Given the description of an element on the screen output the (x, y) to click on. 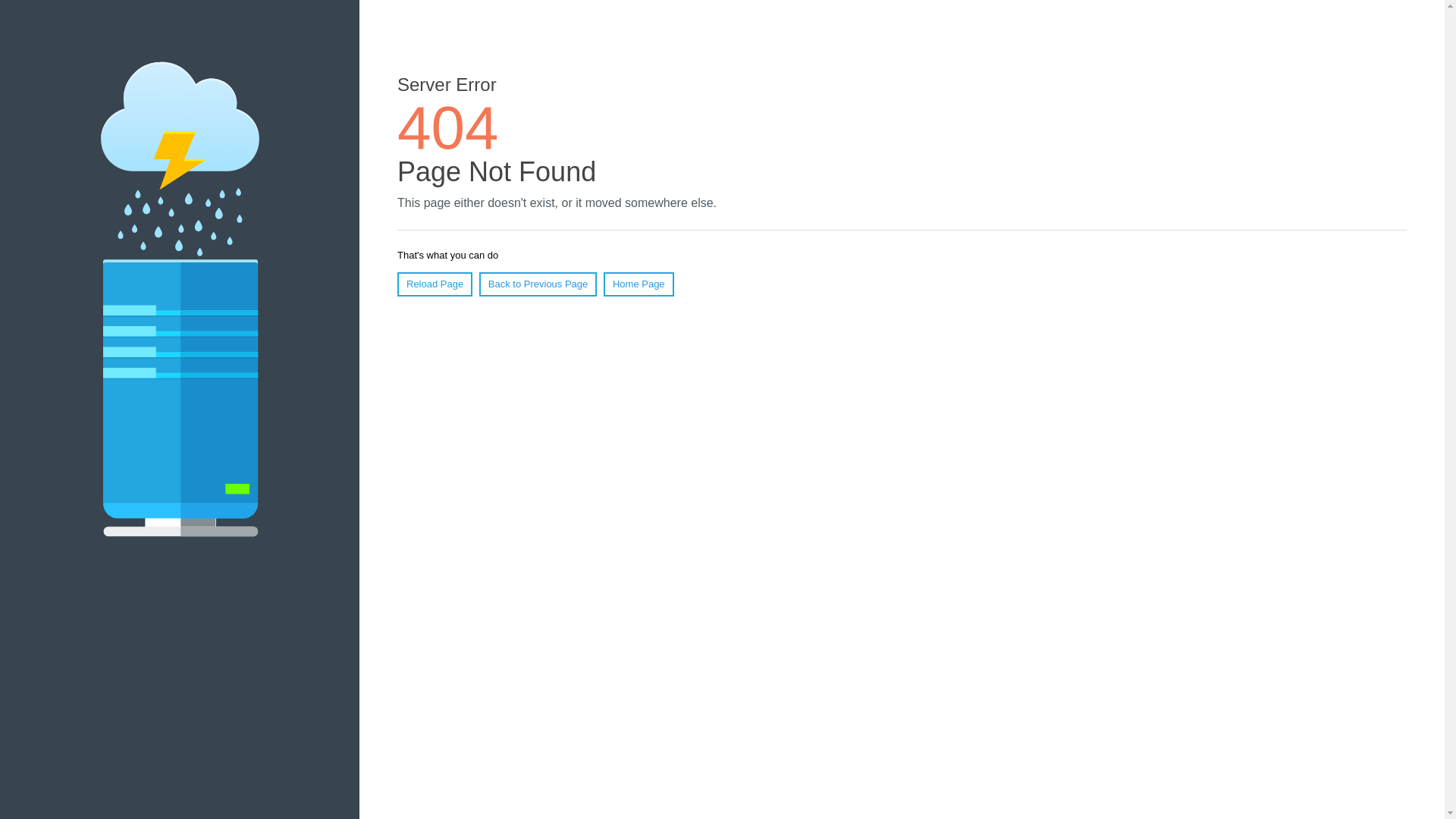
Back to Previous Page Element type: text (538, 284)
Home Page Element type: text (638, 284)
Reload Page Element type: text (434, 284)
